Given the description of an element on the screen output the (x, y) to click on. 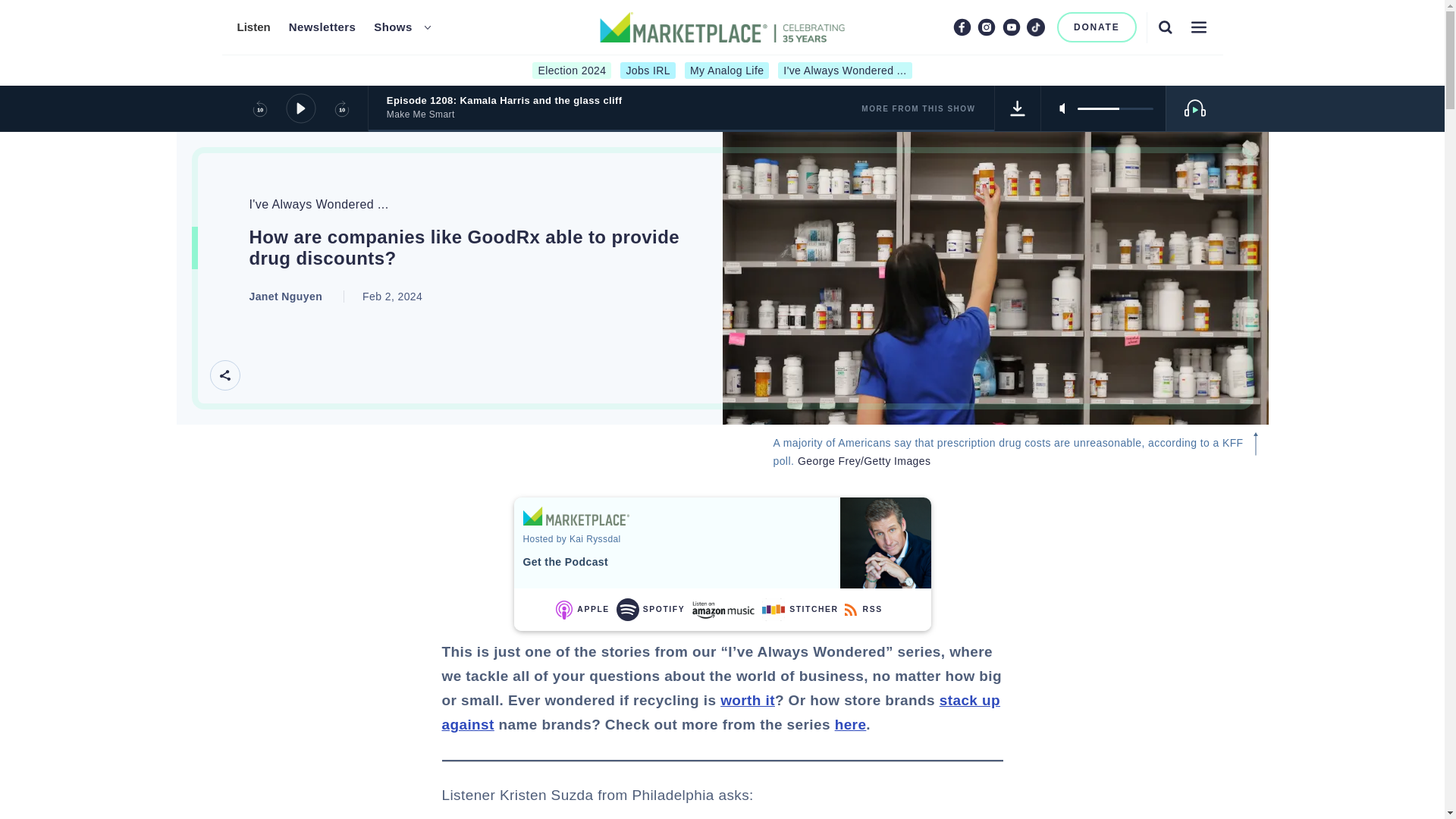
Listen (252, 26)
5 (1115, 108)
TikTok (1035, 27)
Download Track (1017, 108)
Menu (1198, 27)
volume (1115, 108)
Newsletters (322, 27)
Facebook (962, 27)
Shows (393, 26)
Instagram (985, 27)
DONATE (1097, 27)
Marketplace (575, 515)
Youtube (1011, 27)
Search (1164, 27)
